Given the description of an element on the screen output the (x, y) to click on. 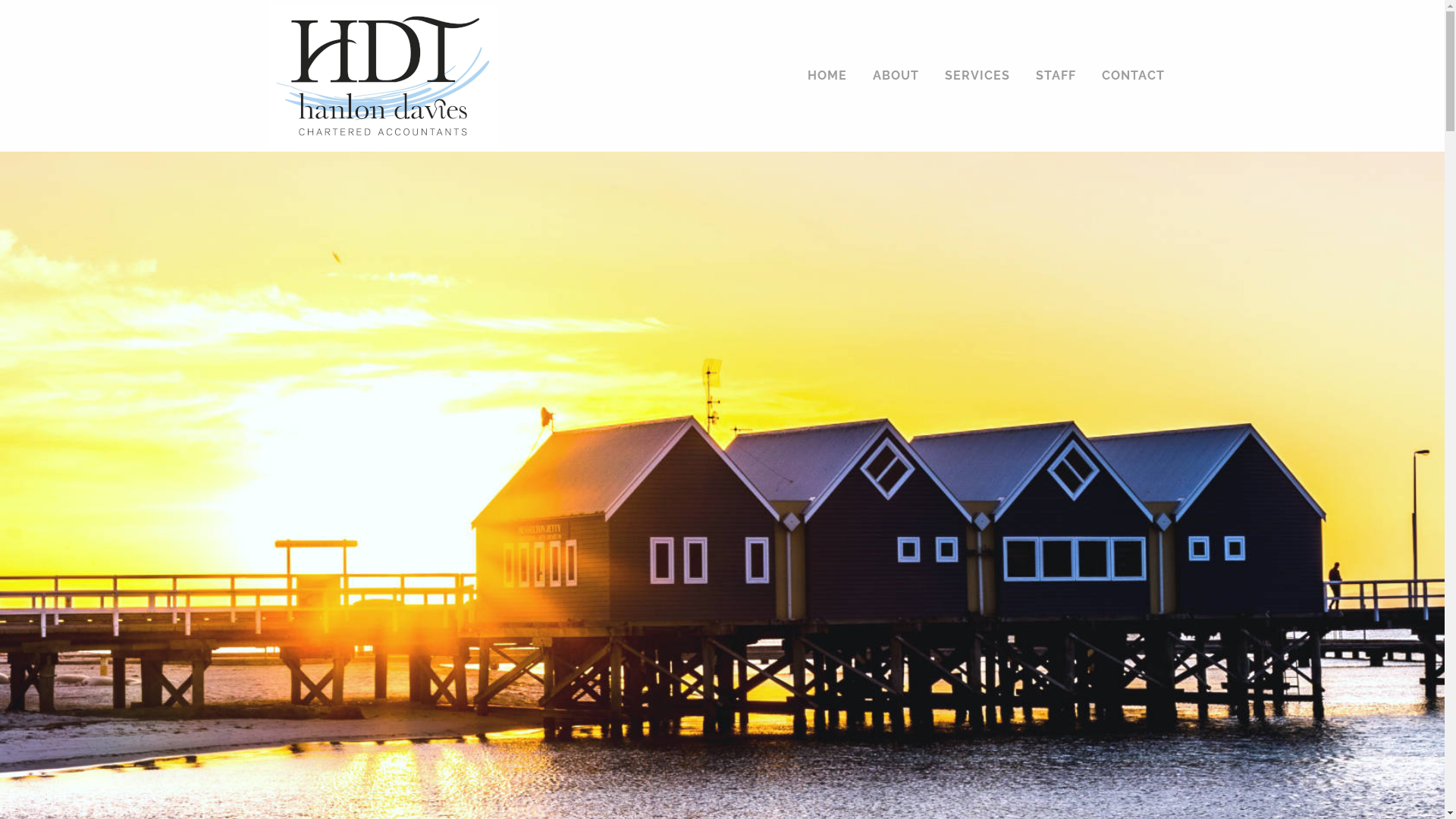
Agilis IT Australia Element type: text (928, 798)
SERVICES Element type: text (976, 75)
ABOUT Element type: text (895, 75)
HOME Element type: text (826, 75)
STAFF Element type: text (1055, 75)
CONTACT Element type: text (1132, 75)
